Given the description of an element on the screen output the (x, y) to click on. 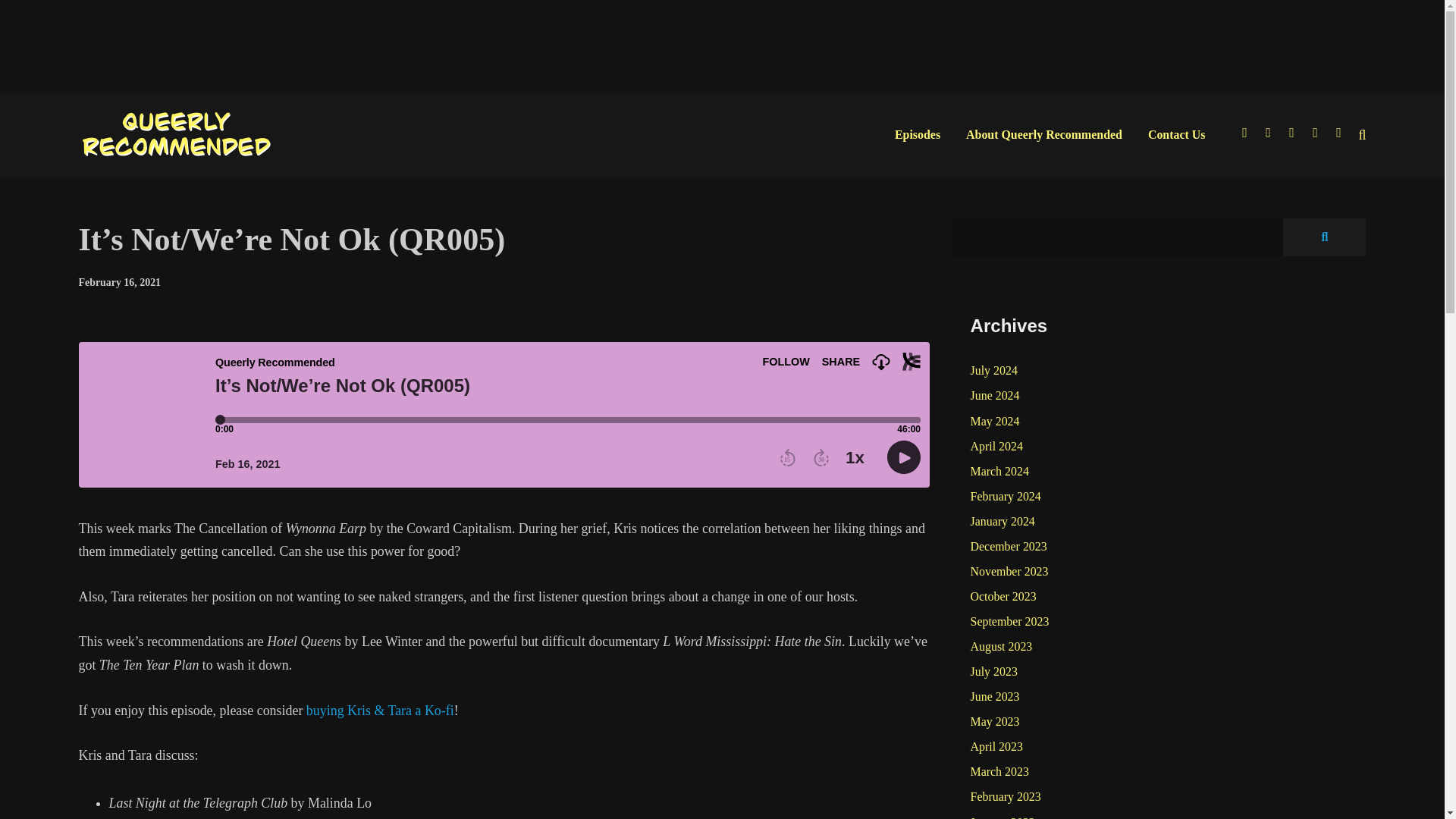
June 2024 (995, 395)
April 2024 (997, 446)
Contact Us (1177, 134)
July 2024 (994, 370)
March 2024 (1000, 470)
May 2024 (995, 420)
About Queerly Recommended (1044, 134)
Embed Player (504, 414)
